Given the description of an element on the screen output the (x, y) to click on. 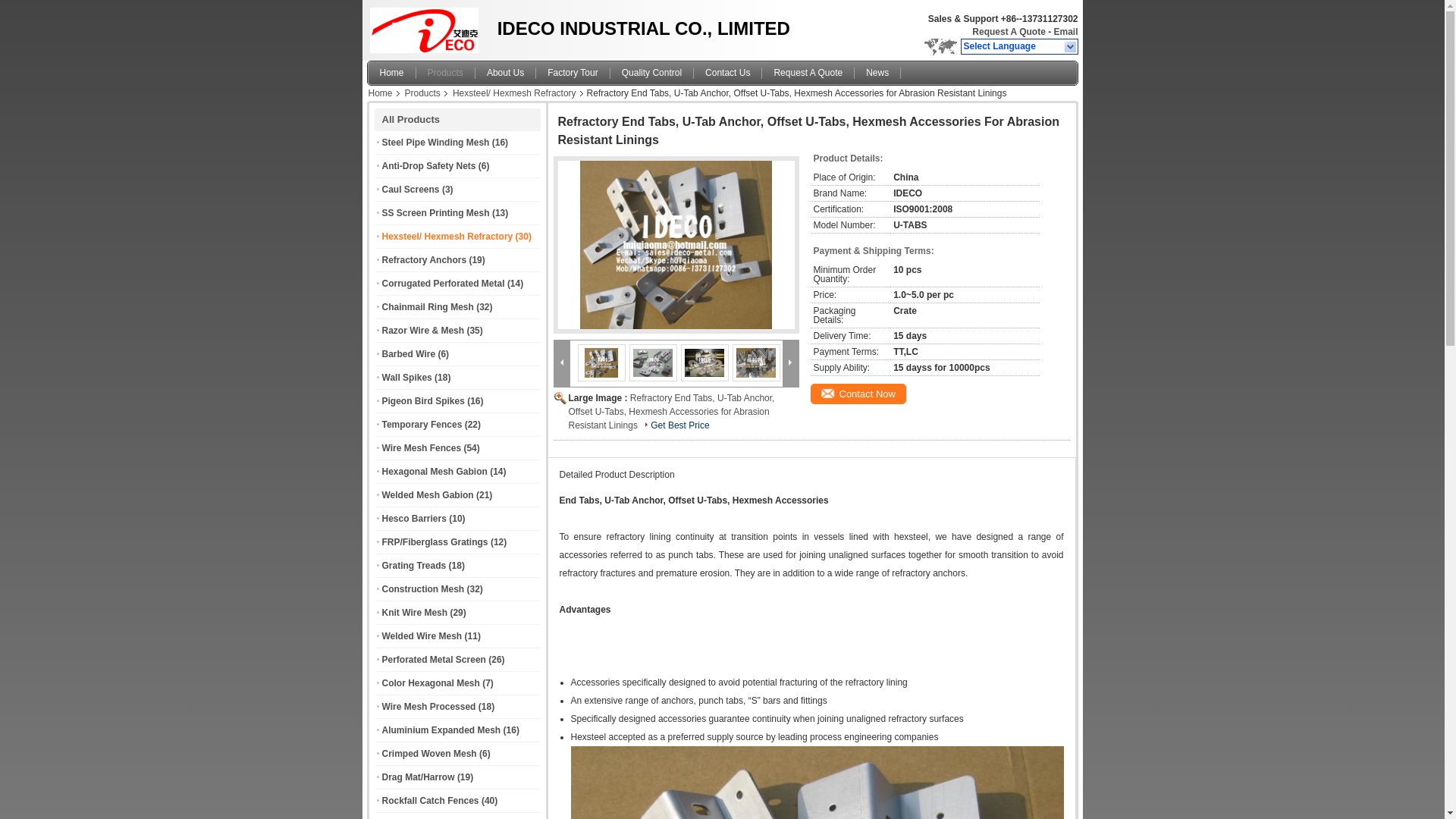
About Us (505, 72)
Perforated Metal Screen (433, 659)
Email (1064, 31)
Construction Mesh (422, 588)
China SS Screen Printing Mesh  on sales (435, 213)
Steel Pipe Winding Mesh (435, 142)
Request A Quote (1008, 31)
Factory Tour (572, 72)
Grating Treads (413, 565)
Request A Quote (807, 72)
